Given the description of an element on the screen output the (x, y) to click on. 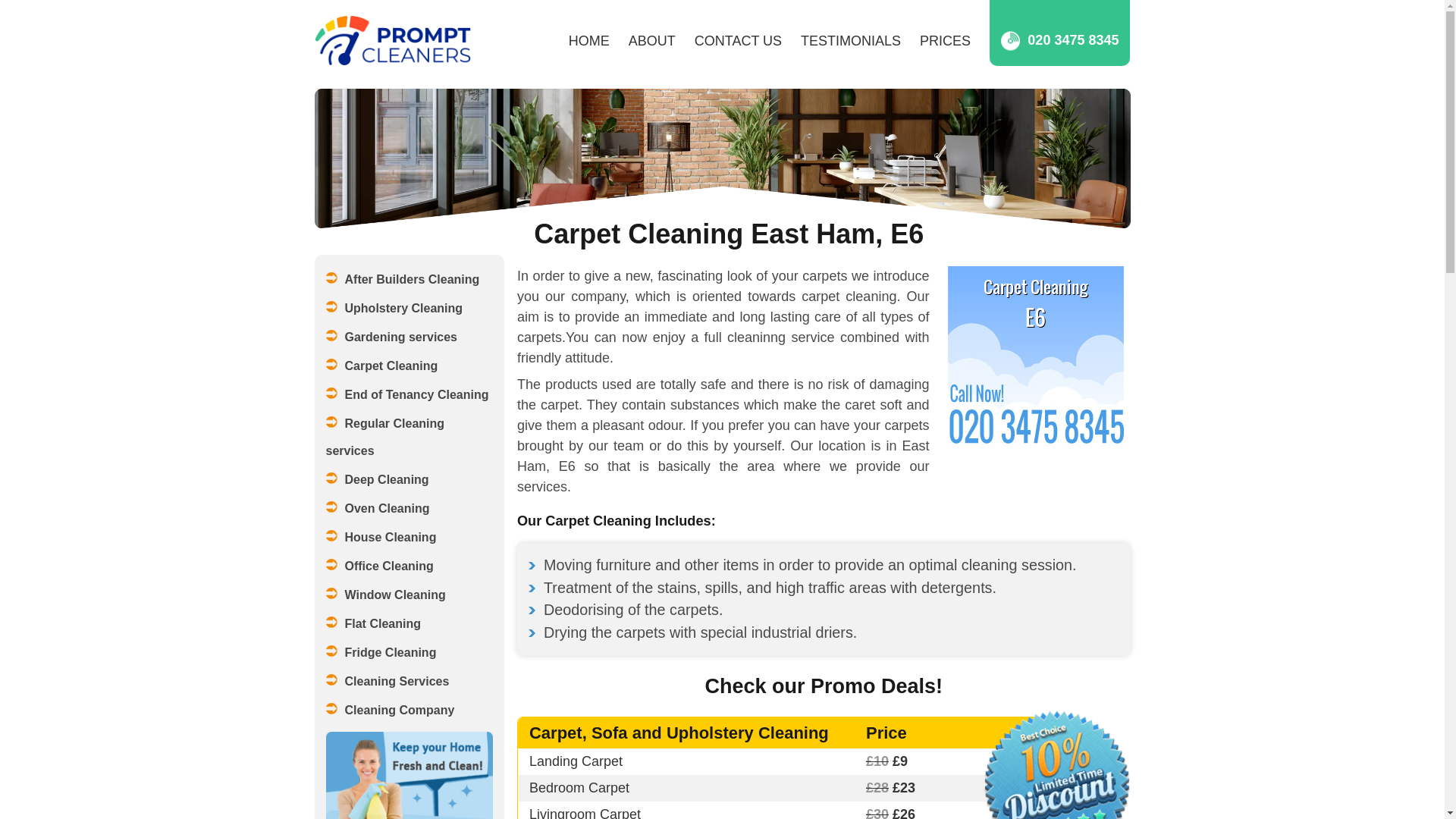
Permalink to Gardening services (409, 337)
Permalink to Flat Cleaning (409, 624)
End of Tenancy Cleaning (409, 394)
HOME (589, 40)
Permalink to Fridge Cleaning (409, 652)
Upholstery Cleaning (409, 308)
Permalink to Office Cleaning (409, 565)
TESTIMONIALS (850, 40)
020 3475 8345 (1059, 40)
Permalink to Carpet Cleaning (409, 366)
Permalink to Deep Cleaning (409, 479)
Permalink to Upholstery Cleaning (409, 308)
Permalink to Windows Cleaning (409, 595)
Carpet Cleaning (409, 366)
Permalink to House Cleaning (409, 537)
